Given the description of an element on the screen output the (x, y) to click on. 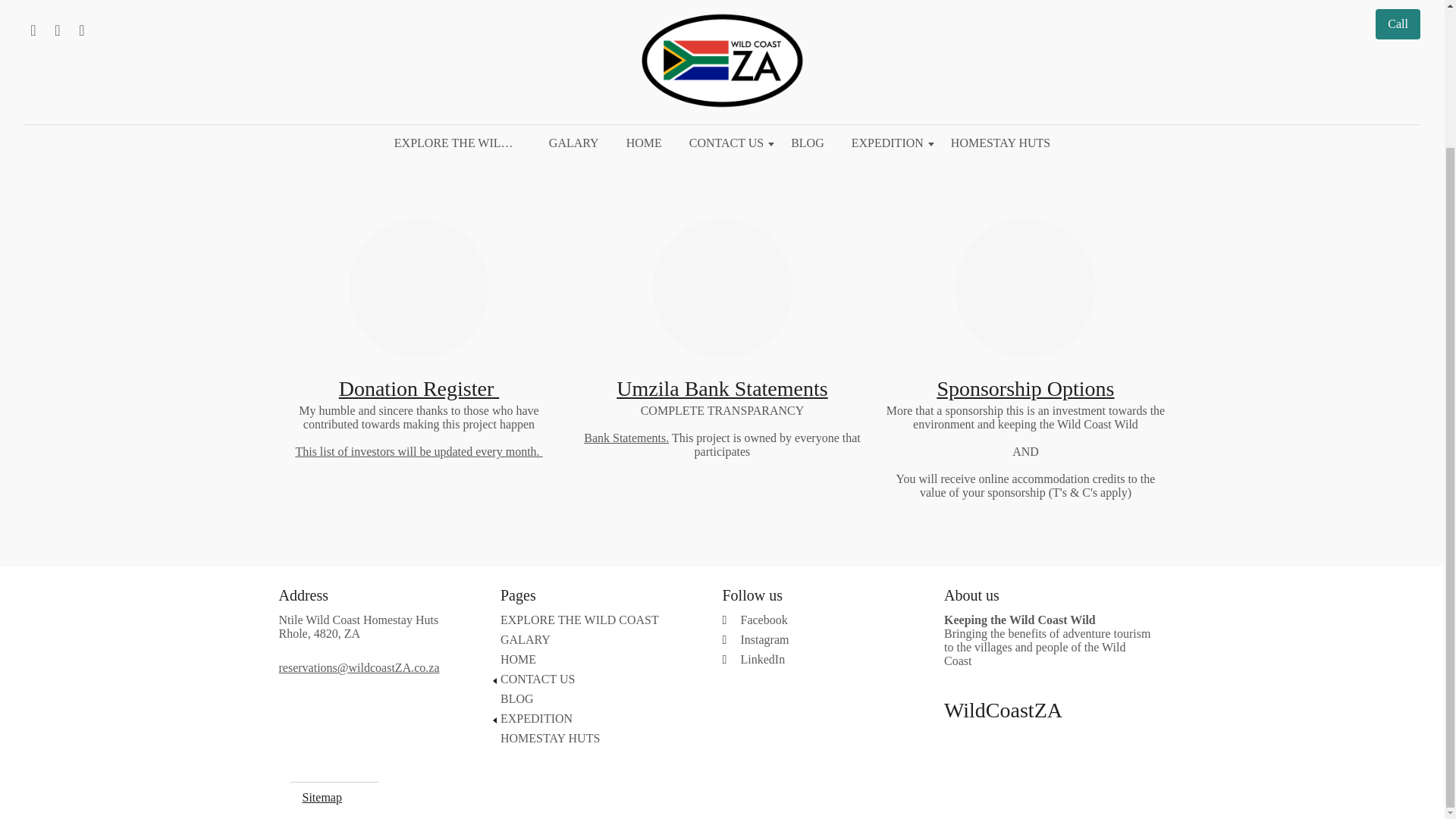
Sponsorship Options (1024, 388)
This list of investors will be updated every month.  (418, 451)
EXPEDITION (596, 718)
BLOG (596, 698)
Bank Statements. (625, 437)
Donation Register  (419, 388)
Umzila Bank Statements (721, 388)
GALARY (596, 640)
CONTACT US (596, 679)
HOME (596, 659)
EXPLORE THE WILD COAST (596, 620)
